Given the description of an element on the screen output the (x, y) to click on. 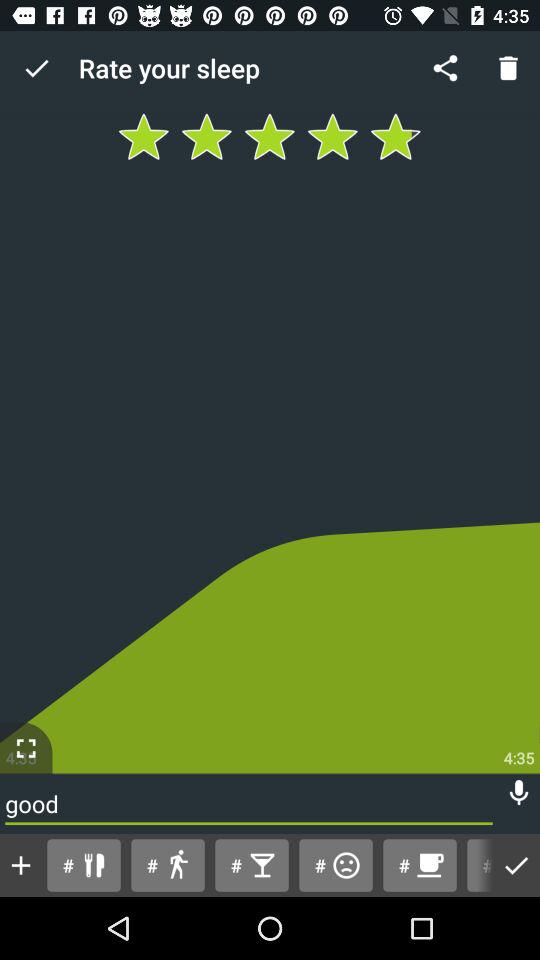
turn on the icon to the right of the # item (516, 864)
